Given the description of an element on the screen output the (x, y) to click on. 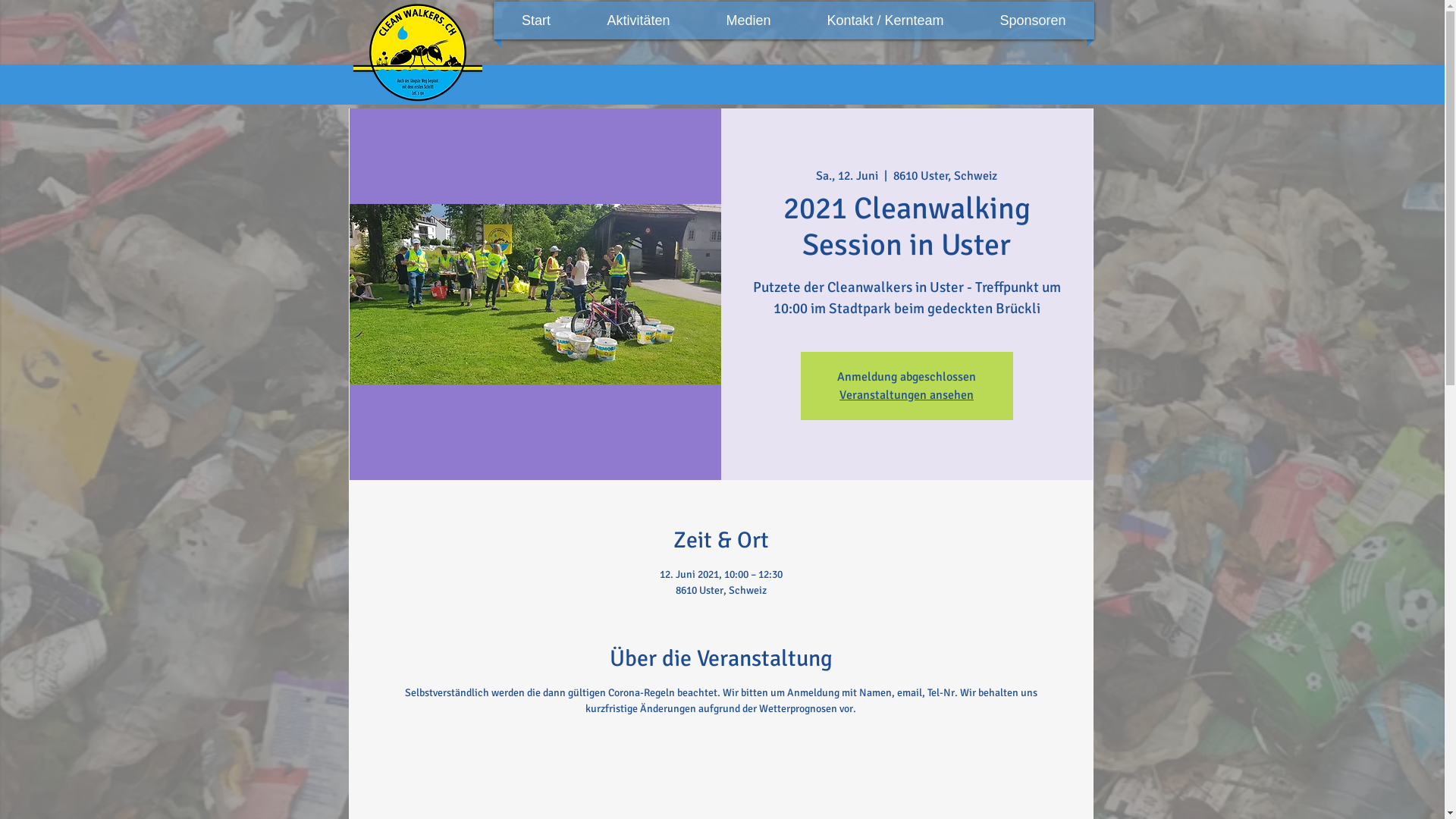
Veranstaltungen ansehen Element type: text (906, 394)
Medien Element type: text (748, 20)
Kontakt / Kernteam Element type: text (884, 20)
Sponsoren Element type: text (1032, 20)
Start Element type: text (536, 20)
